Given the description of an element on the screen output the (x, y) to click on. 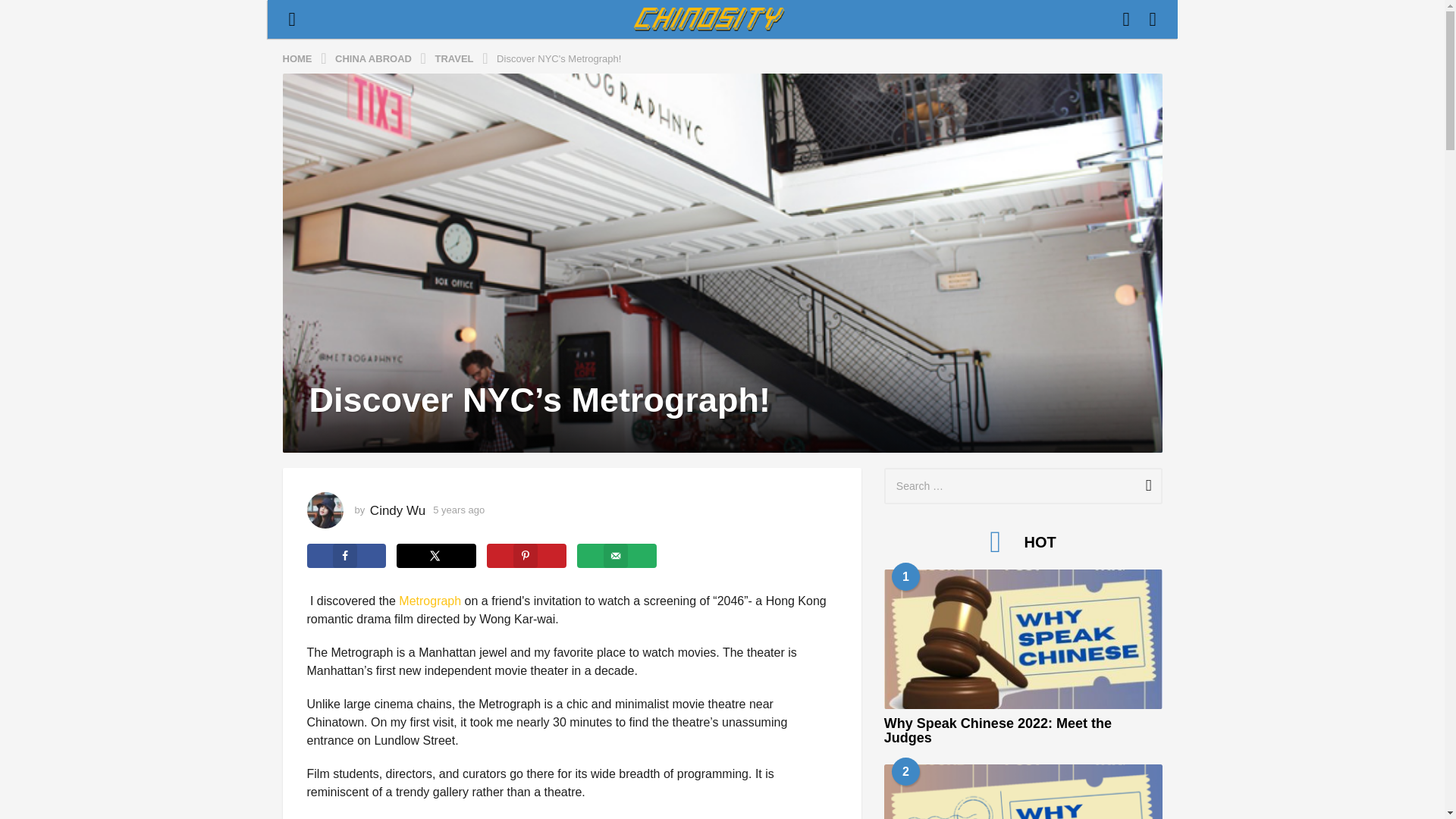
Why Speak Chinese 2022 Is Here! (1022, 791)
CHINA ABROAD (374, 57)
TRAVEL (456, 57)
Discover NYC's Metrograph! (558, 57)
Share on X (436, 555)
Share on Facebook (345, 555)
Metrograph (429, 600)
Send over email (616, 555)
Cindy Wu (397, 510)
Save to Pinterest (526, 555)
